Given the description of an element on the screen output the (x, y) to click on. 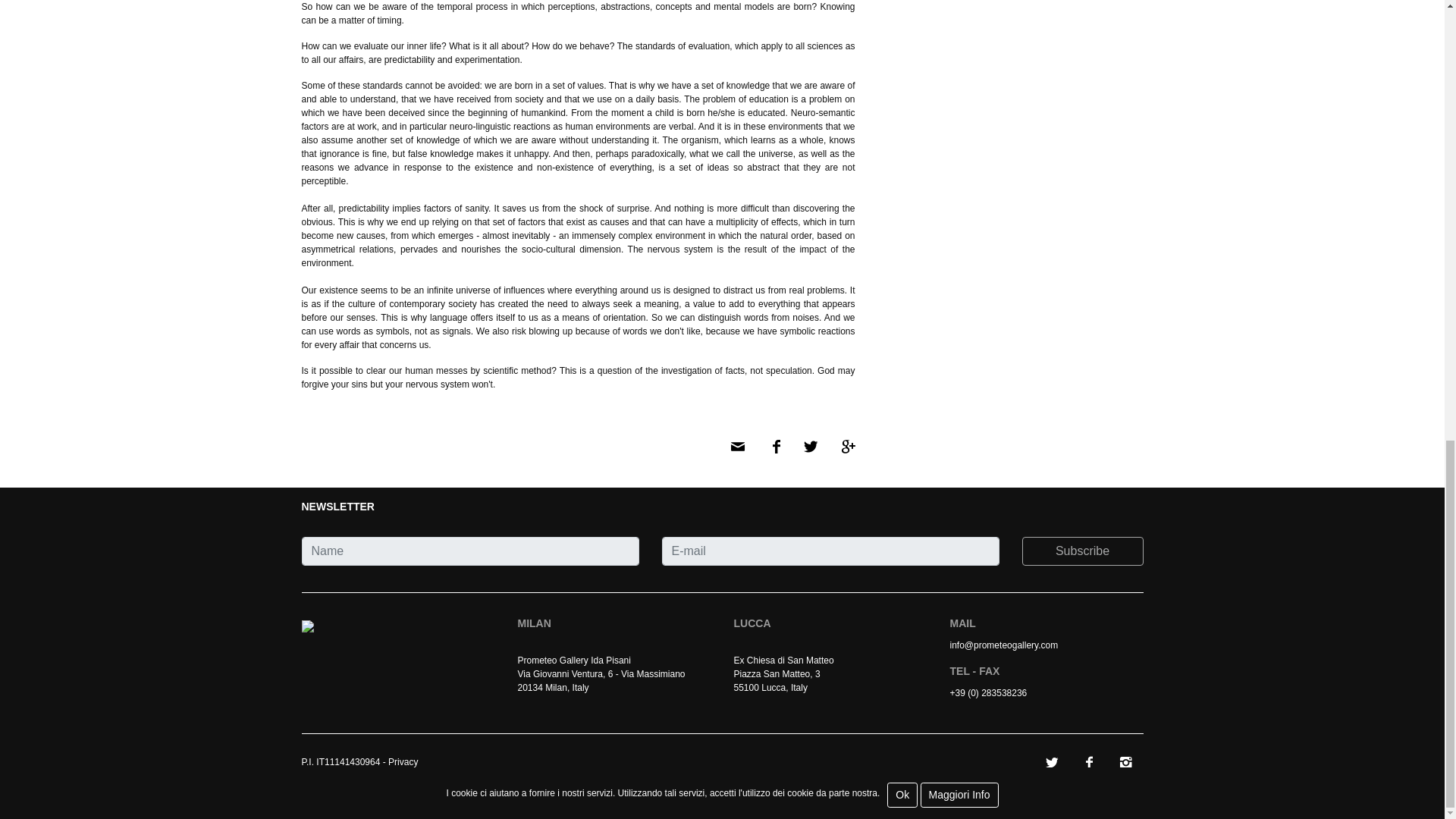
Artbag (472, 762)
Subscribe (1082, 551)
Privacy (402, 761)
Subscribe (1082, 551)
